Given the description of an element on the screen output the (x, y) to click on. 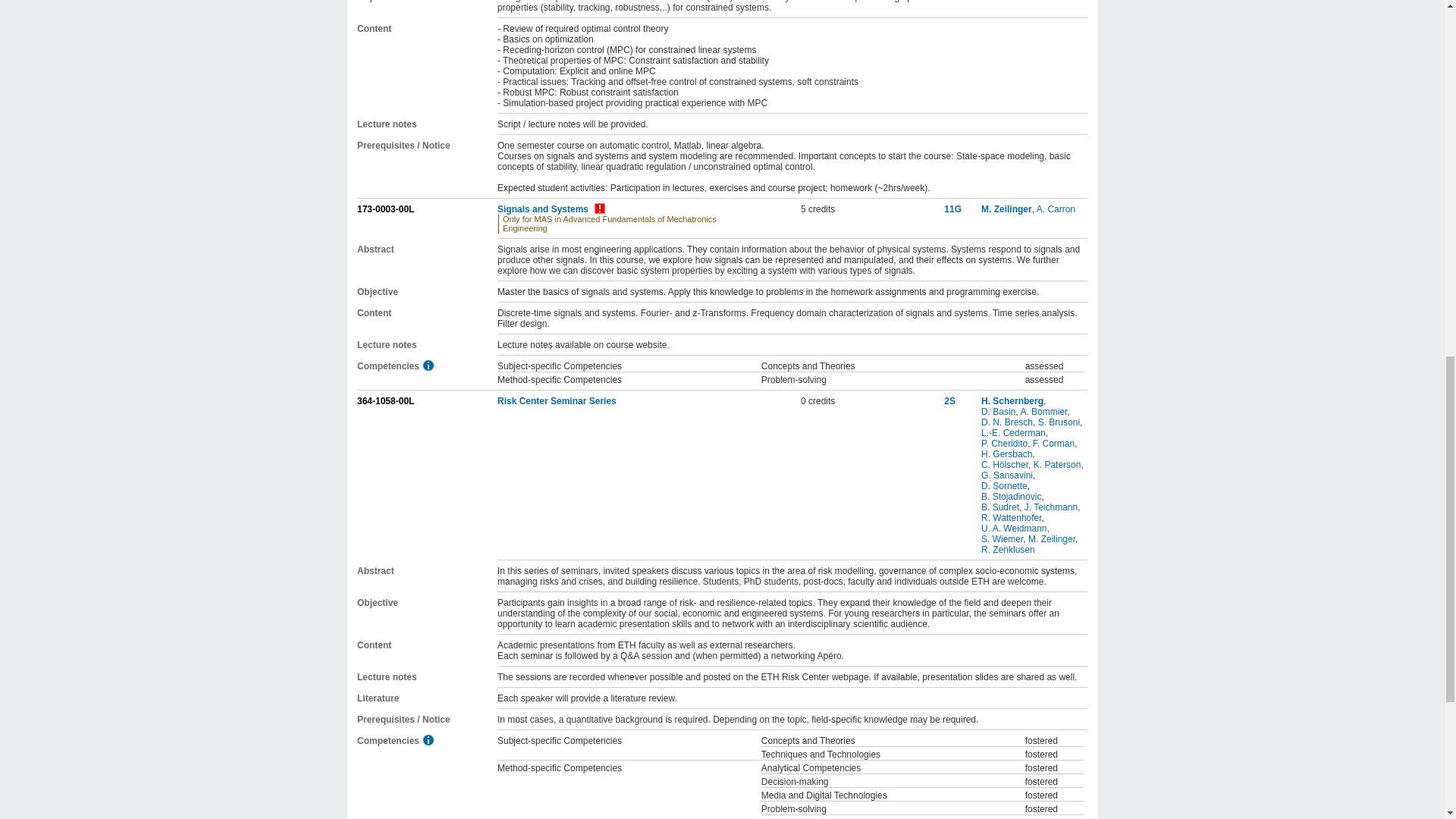
11G (951, 208)
D. Basin (997, 411)
A. Bommier (1043, 411)
F. Corman (1053, 443)
A. Carron (1055, 208)
S. Brusoni (1059, 421)
H. Gersbach (1006, 453)
Restricted registration - show details (599, 208)
H. Schernberg (1012, 400)
M. Zeilinger (1006, 208)
Risk Center Seminar Series (556, 400)
P. Cheridito (1004, 443)
Competencies (427, 365)
Signals and Systems (542, 208)
2S (949, 400)
